Given the description of an element on the screen output the (x, y) to click on. 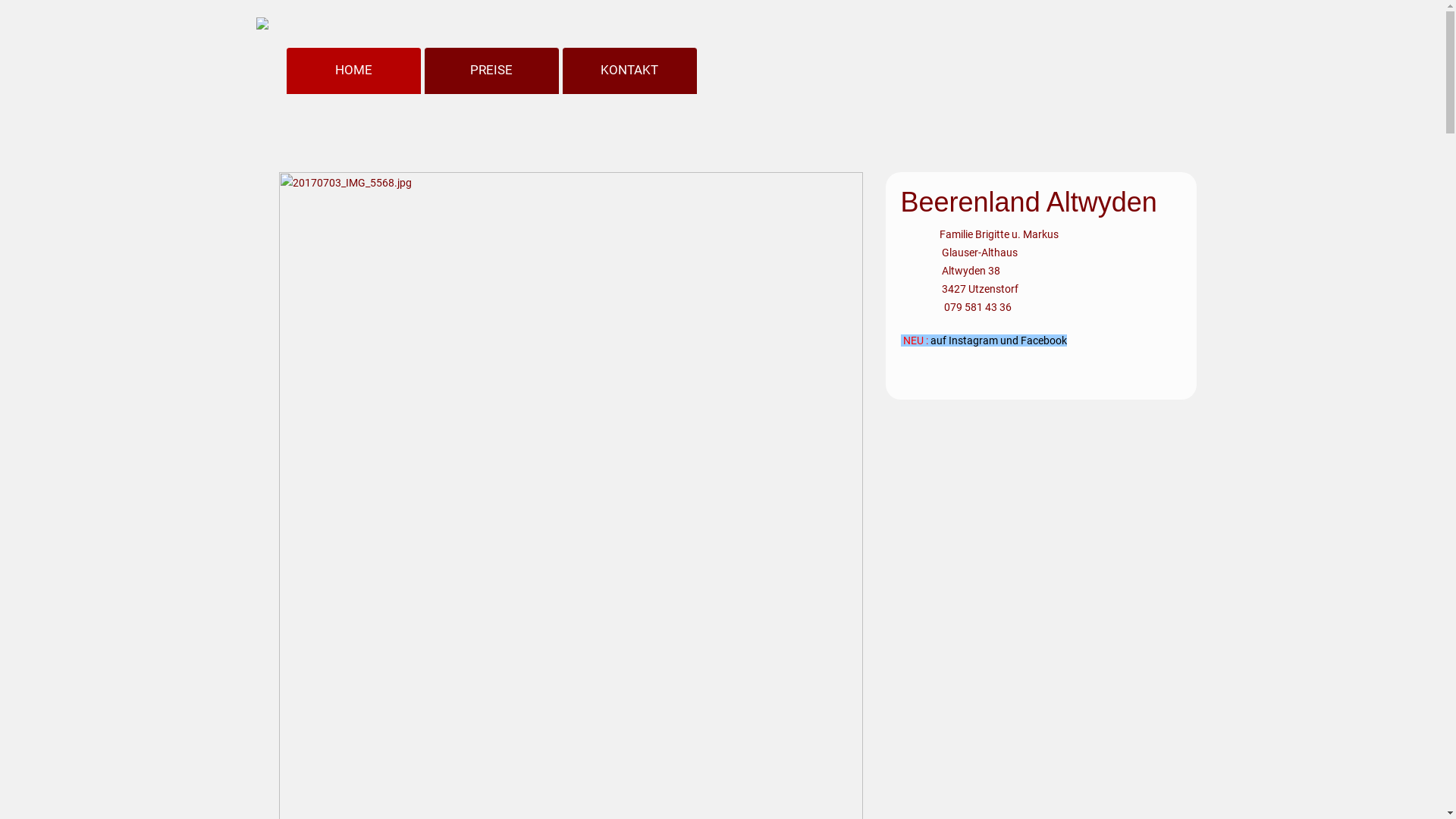
PREISE Element type: text (491, 70)
KONTAKT Element type: text (629, 70)
HOME Element type: text (353, 70)
